Given the description of an element on the screen output the (x, y) to click on. 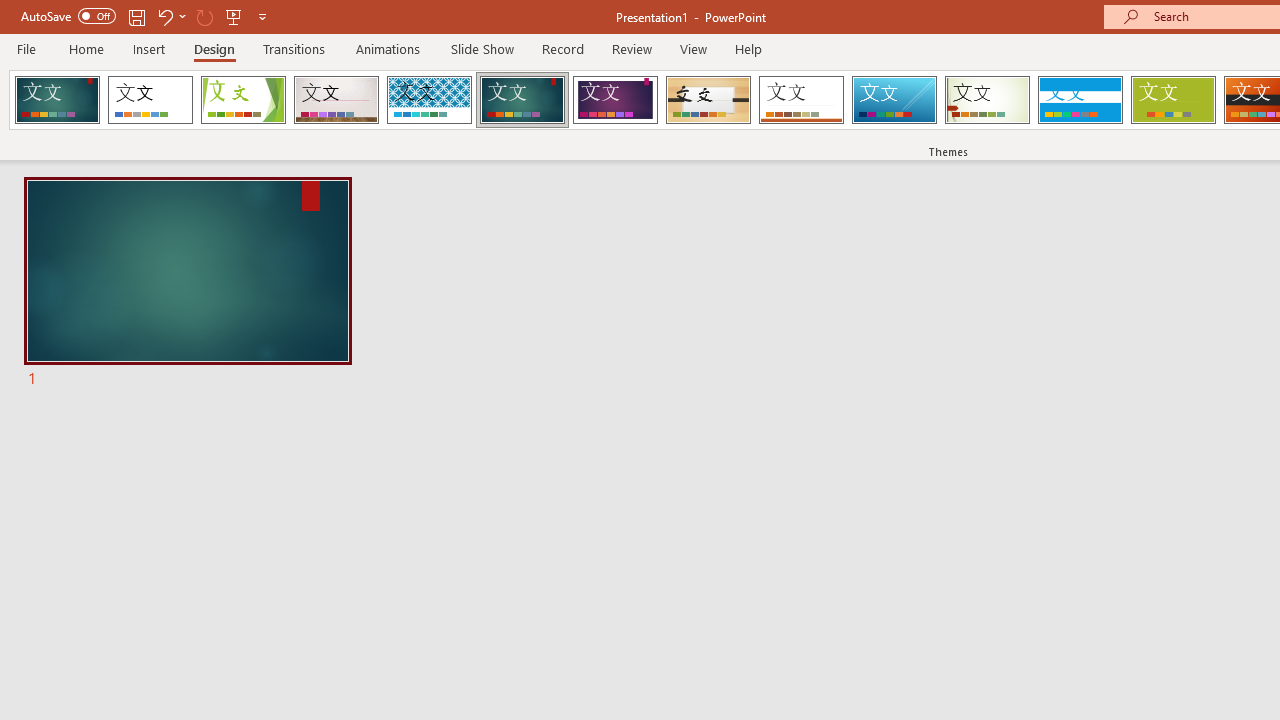
Organic Loading Preview... (708, 100)
Ion Loading Preview... (522, 100)
Slice Loading Preview... (893, 100)
